Given the description of an element on the screen output the (x, y) to click on. 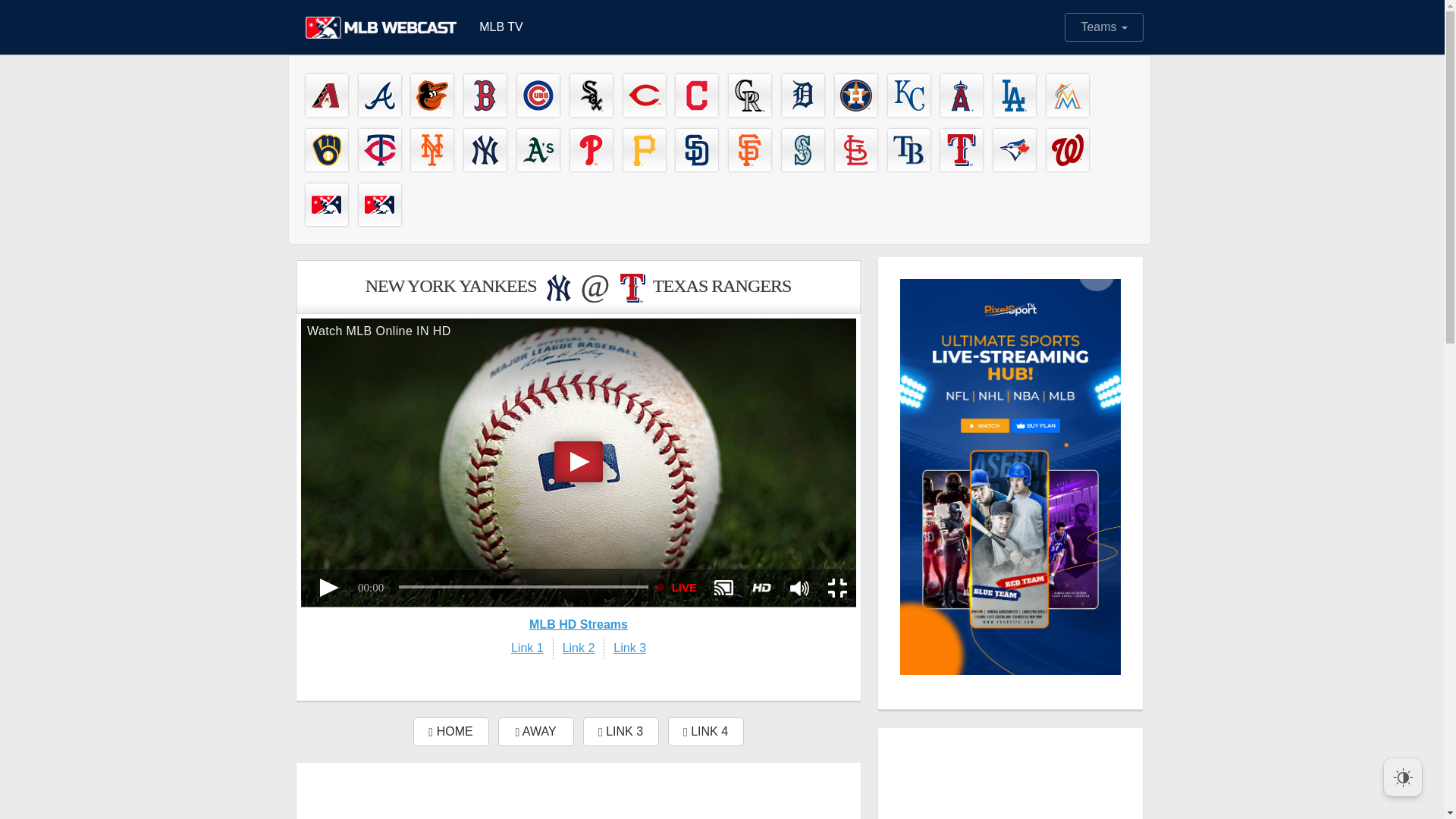
Arizona Diamondbacks Live Stream (326, 95)
Cleveland Guardians Live Stream (696, 95)
 HOME (449, 731)
Miami Marlins Live Stream (1067, 95)
Los Angeles Angels Live Stream (961, 95)
Kansas City Royals Live Stream (909, 95)
Cincinnati Reds Live Stream (644, 95)
Chicago White Sox Live Stream (591, 95)
Chicago Cubs Live Stream (537, 95)
Houston Astros Live Stream (855, 95)
